Given the description of an element on the screen output the (x, y) to click on. 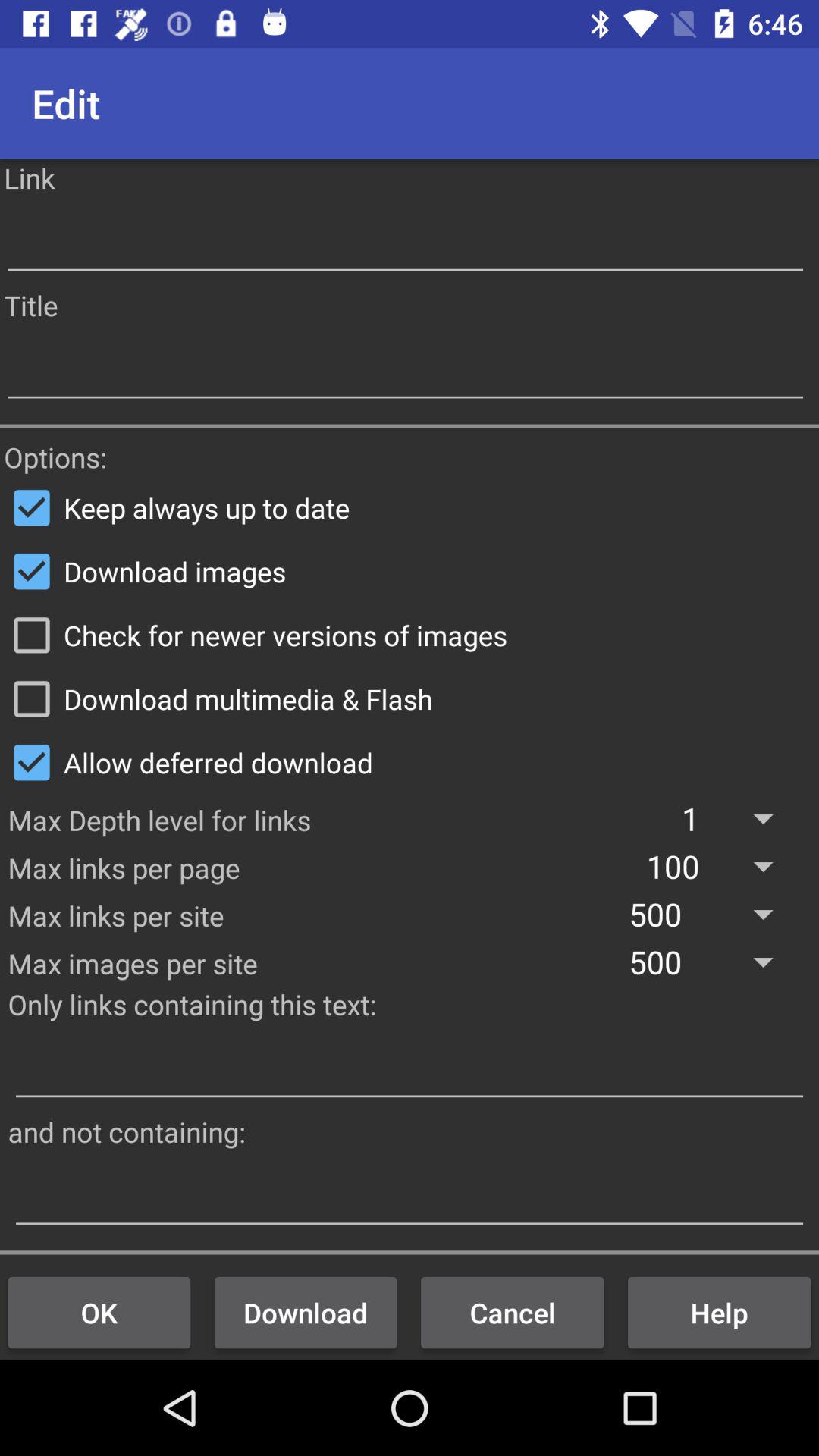
choose checkbox below the keep always up icon (409, 571)
